Given the description of an element on the screen output the (x, y) to click on. 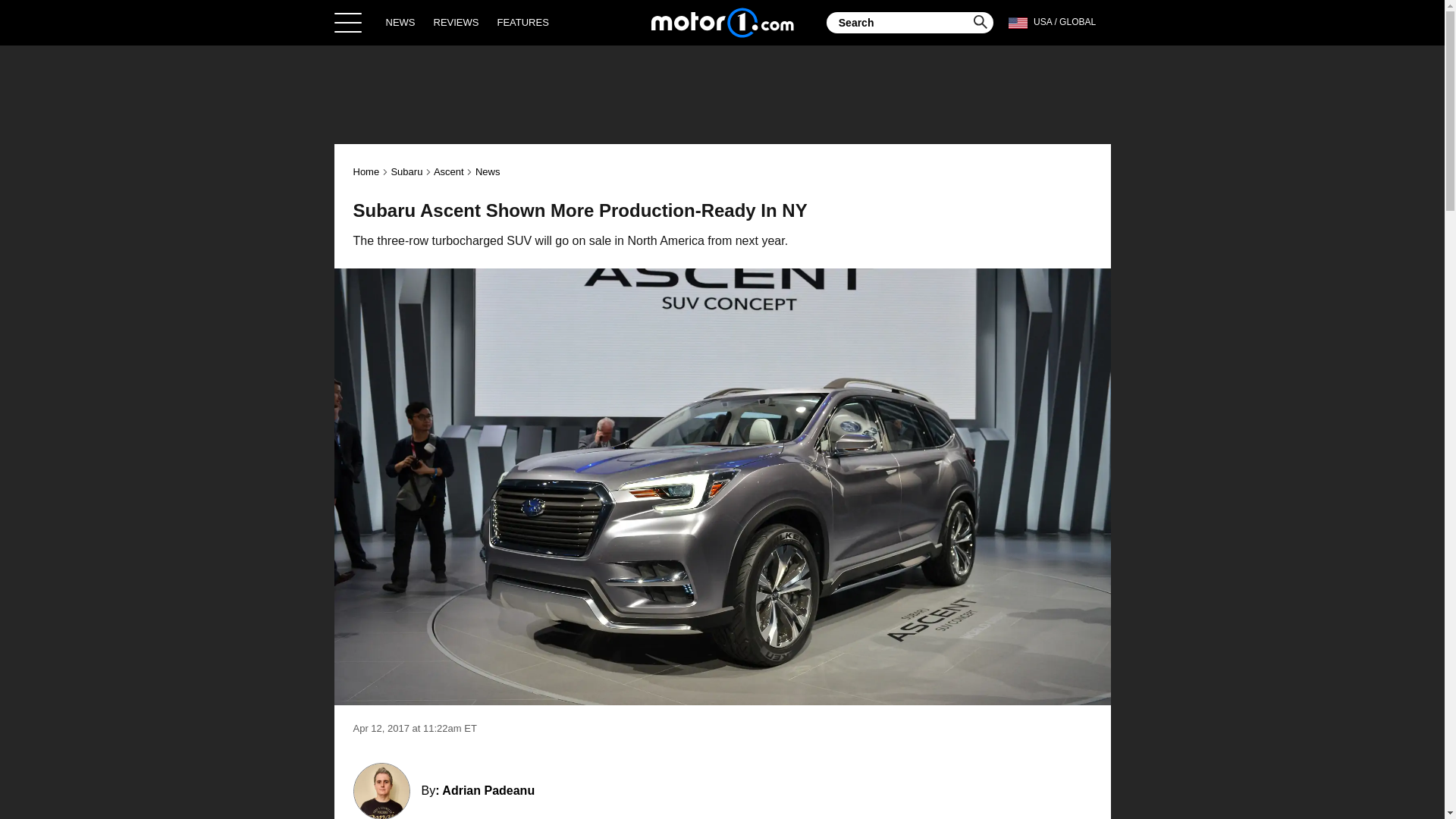
Subaru (406, 171)
Ascent (448, 171)
Home (721, 22)
NEWS (399, 22)
REVIEWS (456, 22)
Home (366, 171)
Adrian Padeanu (488, 789)
News (488, 171)
FEATURES (522, 22)
